Given the description of an element on the screen output the (x, y) to click on. 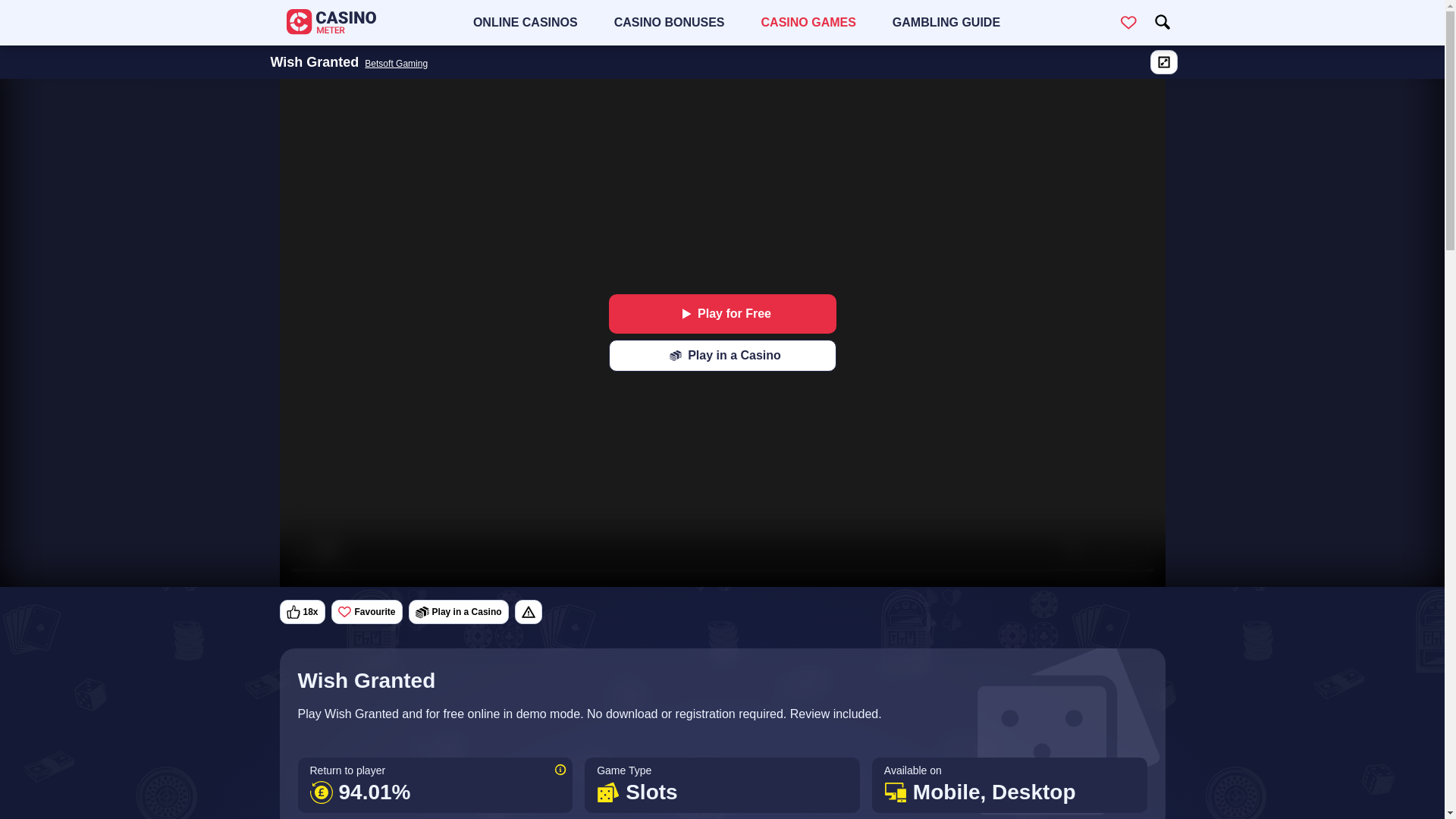
Play in a Casino (721, 355)
ONLINE CASINOS (525, 22)
CASINO GAMES (808, 22)
CASINO BONUSES (669, 22)
Betsoft Gaming (396, 62)
GAMBLING GUIDE (946, 22)
